Given the description of an element on the screen output the (x, y) to click on. 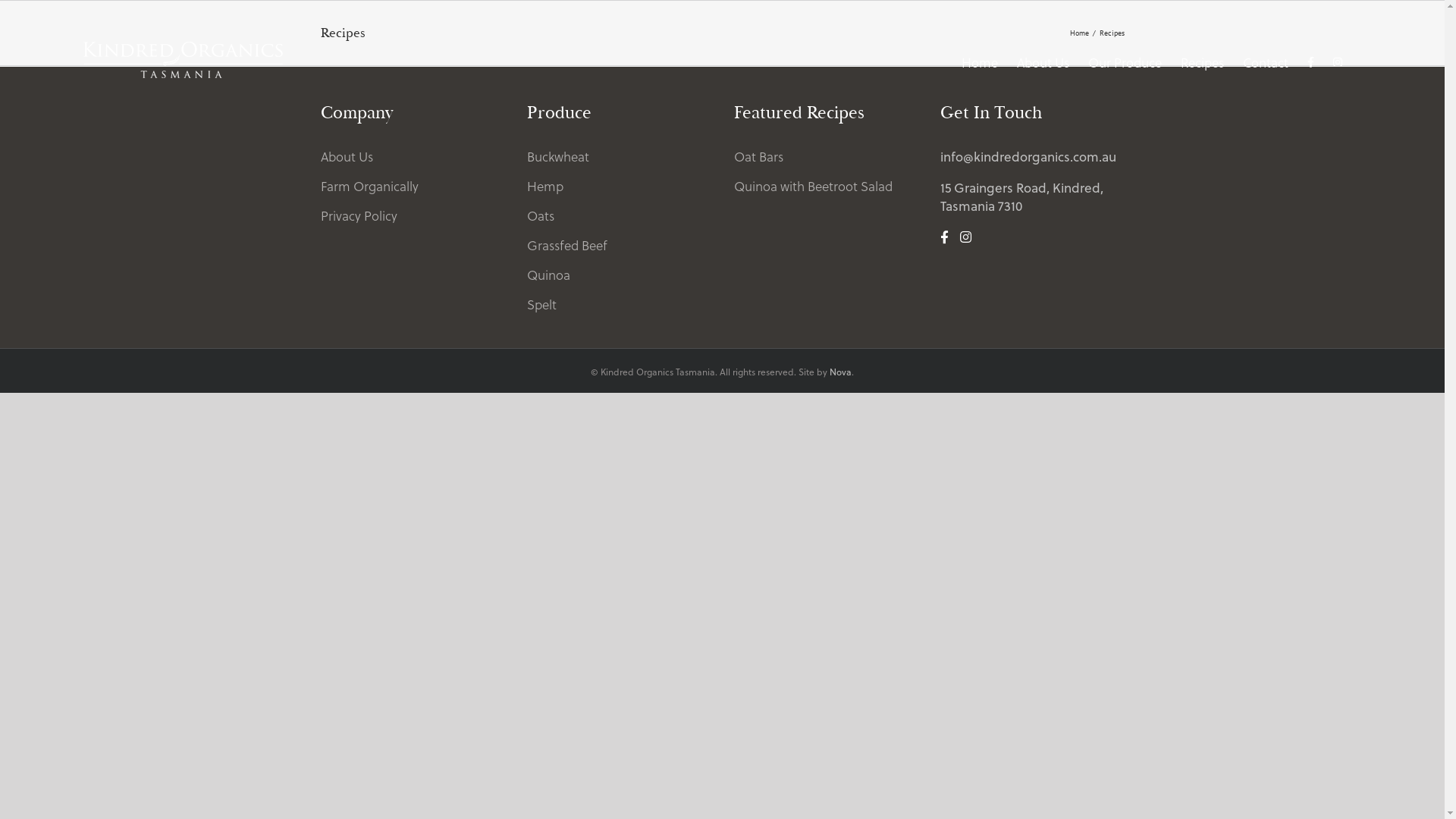
Home Element type: text (979, 62)
Quinoa with Beetroot Salad Element type: text (813, 186)
Buckwheat Element type: text (558, 156)
Oat Bars Element type: text (758, 156)
Recipes Element type: text (1201, 62)
info@kindredorganics.com.au Element type: text (1028, 156)
Contact Element type: text (1265, 62)
Quinoa Element type: text (548, 275)
Privacy Policy Element type: text (358, 216)
Hemp Element type: text (545, 186)
Grassfed Beef Element type: text (567, 245)
Farm Organically Element type: text (368, 186)
Home Element type: text (1078, 32)
Our Produce Element type: text (1124, 62)
Oats Element type: text (540, 216)
Spelt Element type: text (541, 304)
About Us Element type: text (1042, 62)
About Us Element type: text (346, 156)
Nova Element type: text (840, 371)
